Given the description of an element on the screen output the (x, y) to click on. 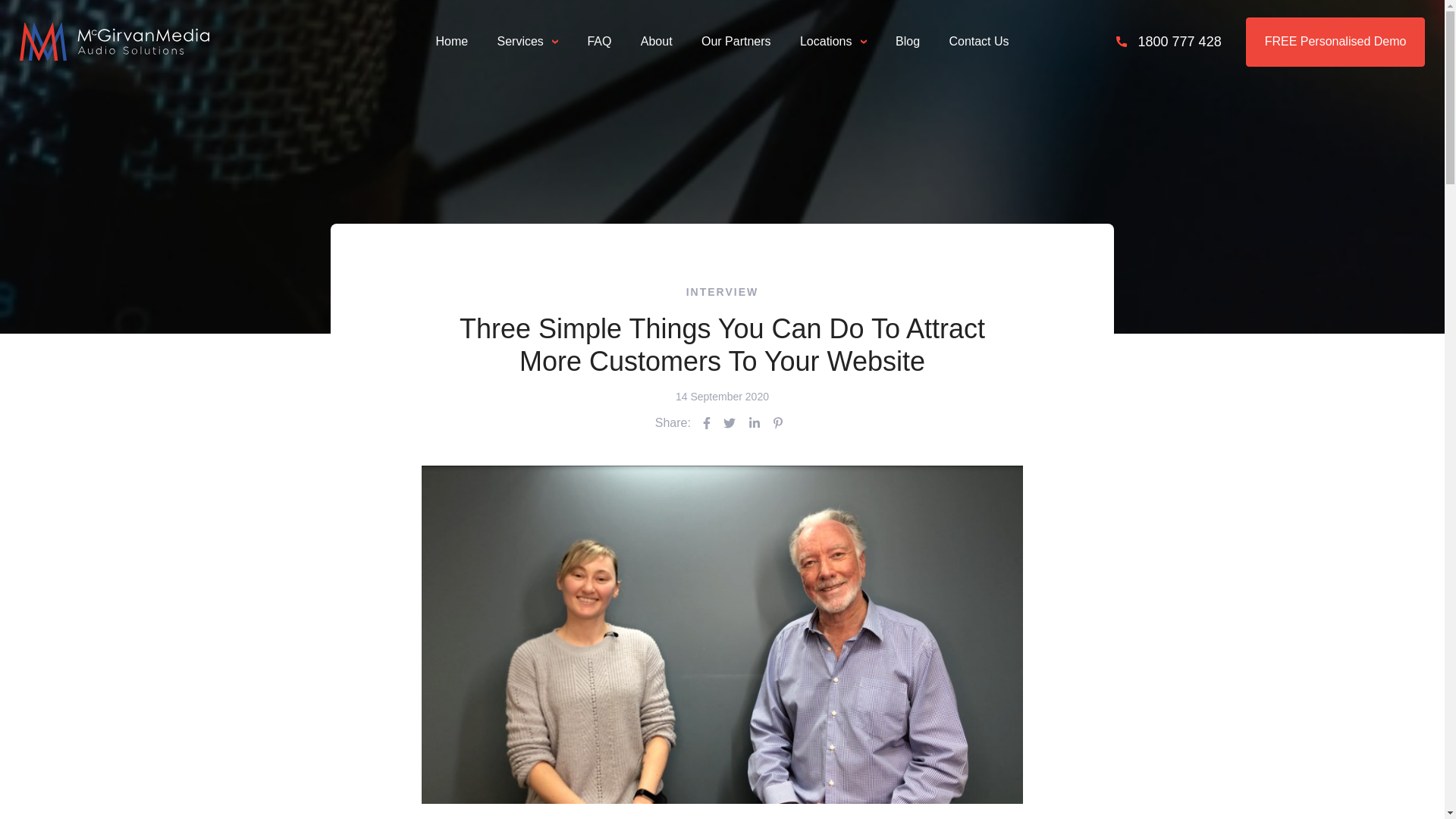
Services Element type: text (527, 41)
Contact Us Element type: text (978, 41)
About Element type: text (656, 41)
INTERVIEW Element type: text (722, 291)
FAQ Element type: text (598, 41)
1800 777 428 Element type: text (1167, 41)
Blog Element type: text (907, 41)
Our Partners Element type: text (736, 41)
Locations Element type: text (833, 41)
FREE Personalised Demo Element type: text (1335, 40)
Home Element type: text (451, 41)
